Given the description of an element on the screen output the (x, y) to click on. 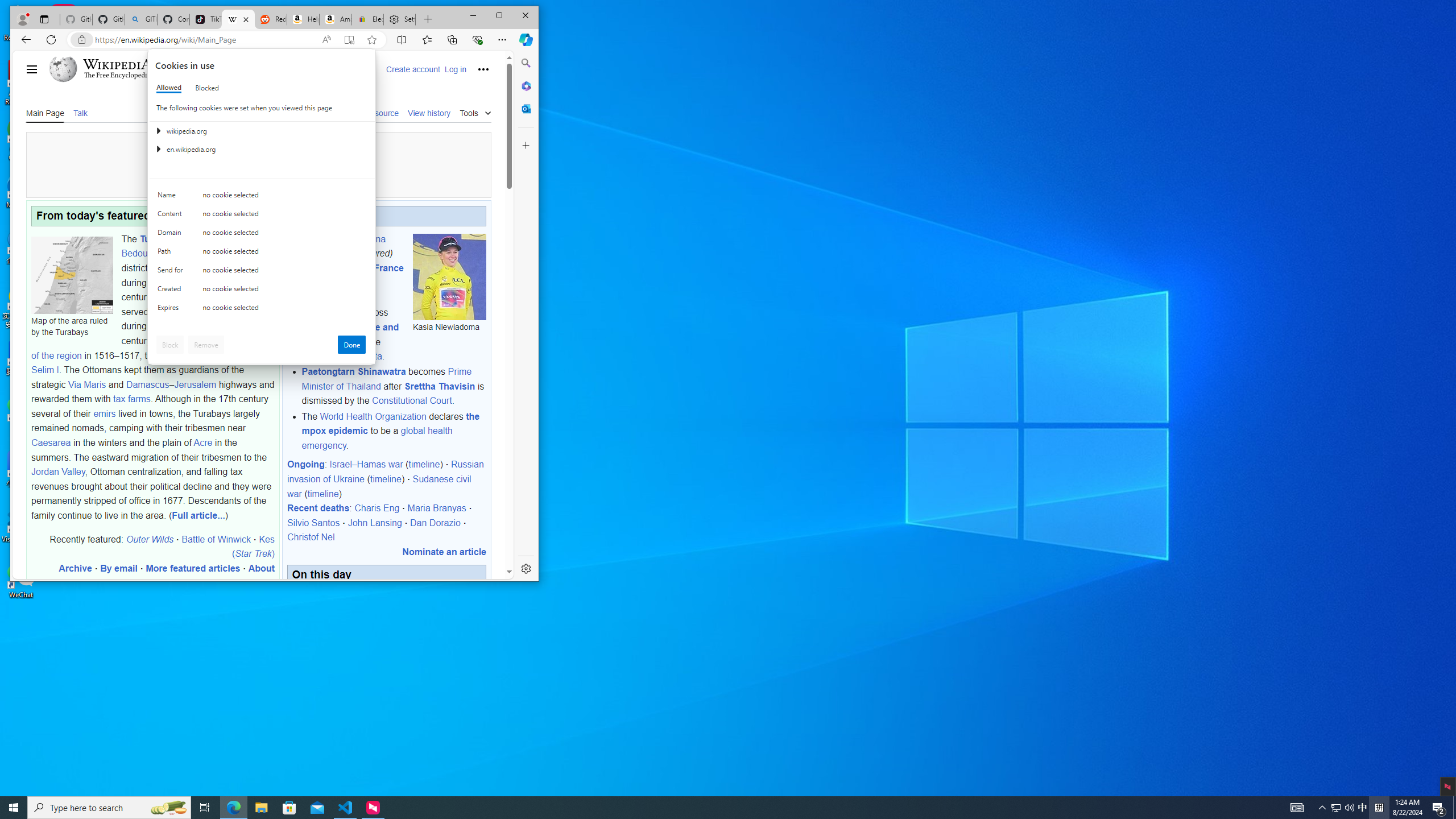
Class: c0153 c0157 (261, 309)
Domain (172, 235)
Blocked (206, 87)
Path (172, 253)
Microsoft Edge - 1 running window (233, 807)
Remove (205, 344)
Running applications (707, 807)
Class: c0153 c0157 c0154 (261, 197)
